Given the description of an element on the screen output the (x, y) to click on. 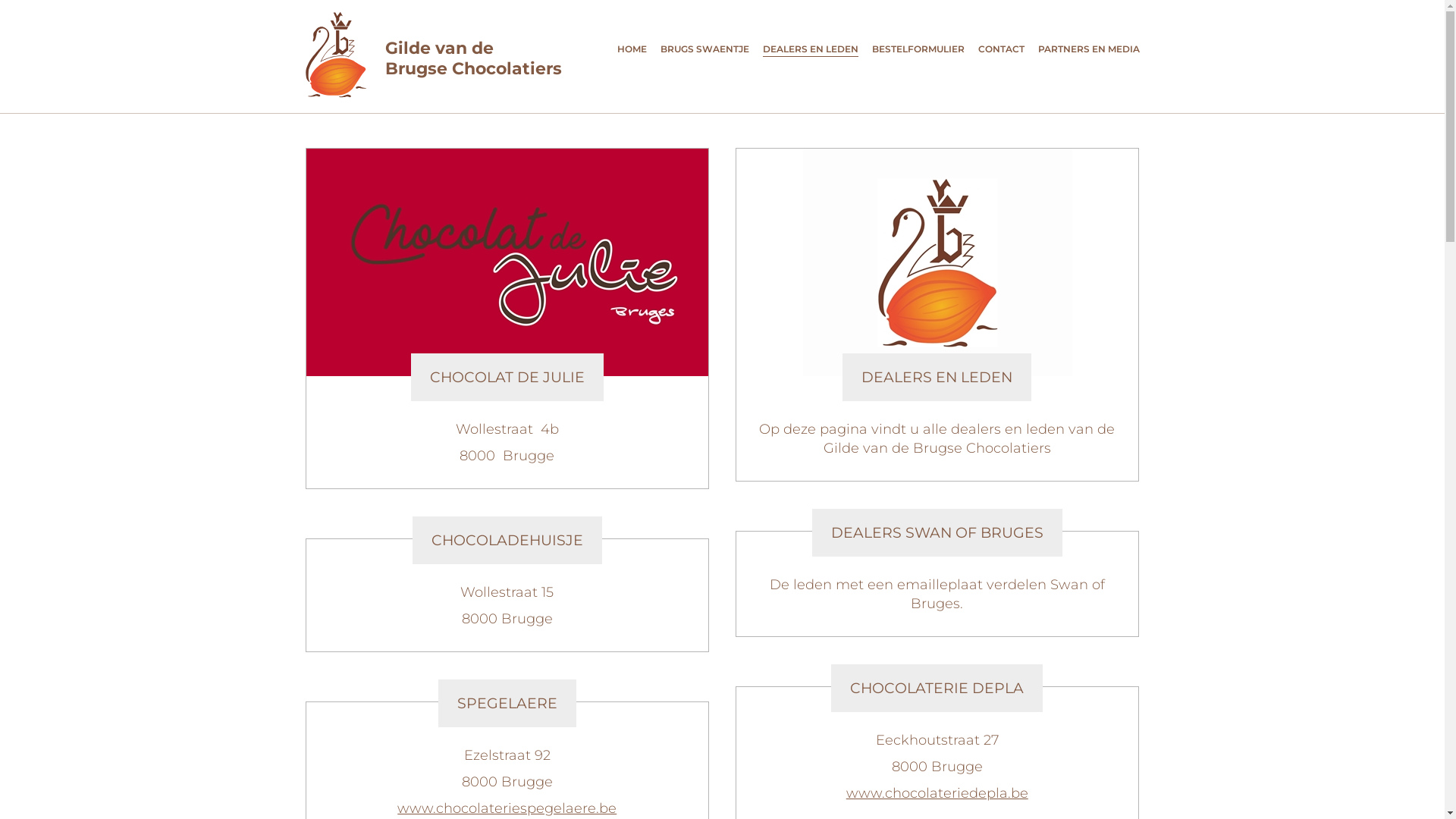
CONTACT Element type: text (1001, 49)
DEALERS EN LEDEN Element type: text (810, 49)
BESTELFORMULIER Element type: text (918, 49)
BRUGS SWAENTJE Element type: text (703, 49)
HOME Element type: text (631, 49)
www.chocolateriespegelaere.be Element type: text (506, 808)
www.chocolateriedepla.be Element type: text (937, 792)
PARTNERS EN MEDIA Element type: text (1088, 49)
Gilde van de
Brugse Chocolatiers Element type: text (435, 54)
